Given the description of an element on the screen output the (x, y) to click on. 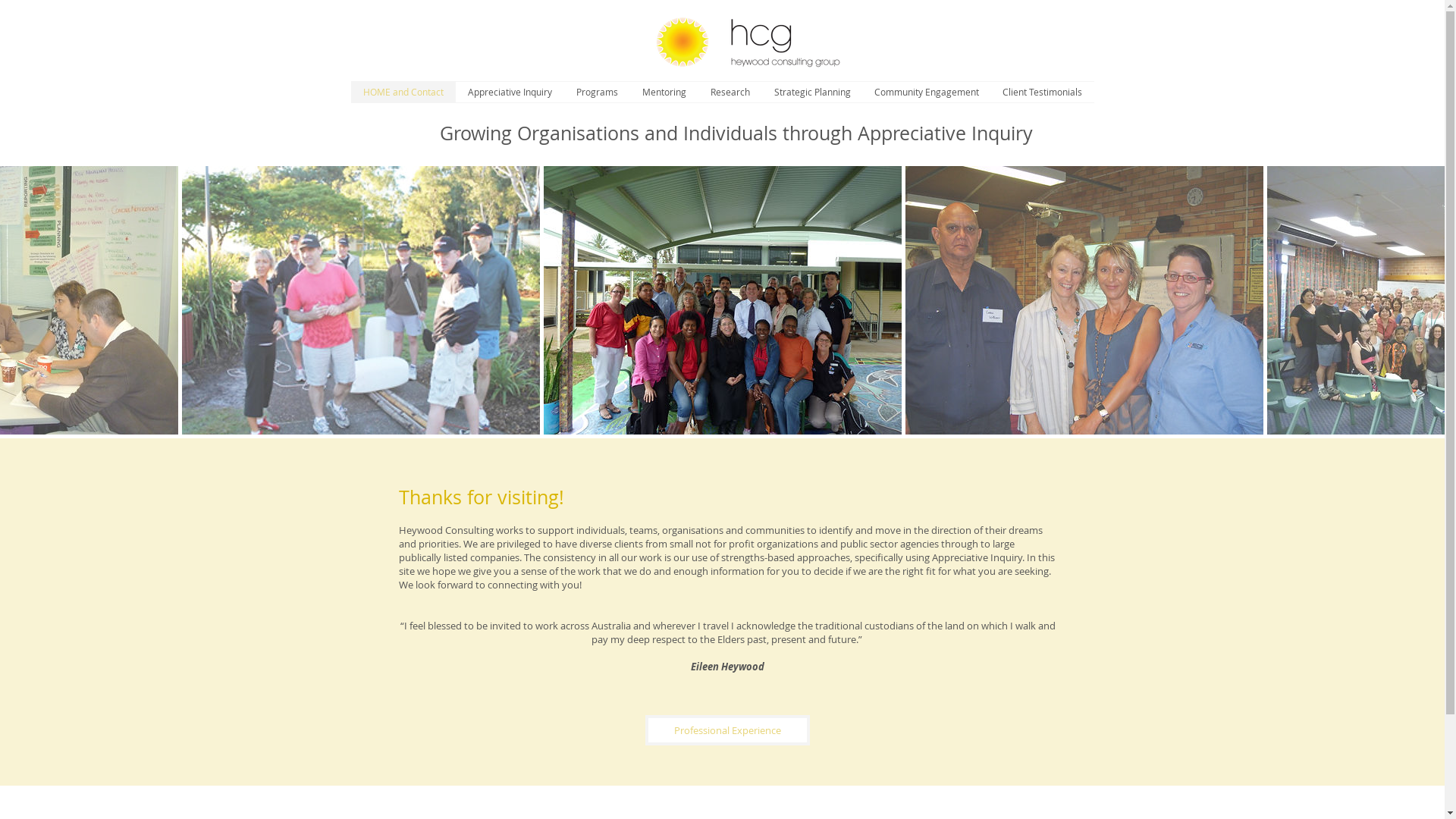
Strategic Planning Element type: text (811, 91)
Programs Element type: text (597, 91)
Research Element type: text (729, 91)
HOME and Contact Element type: text (402, 91)
Mentoring Element type: text (663, 91)
Community Engagement Element type: text (926, 91)
Sun.png Element type: hover (681, 42)
Client Testimonials Element type: text (1041, 91)
Professional Experience Element type: text (726, 730)
Appreciative Inquiry Element type: text (509, 91)
